Given the description of an element on the screen output the (x, y) to click on. 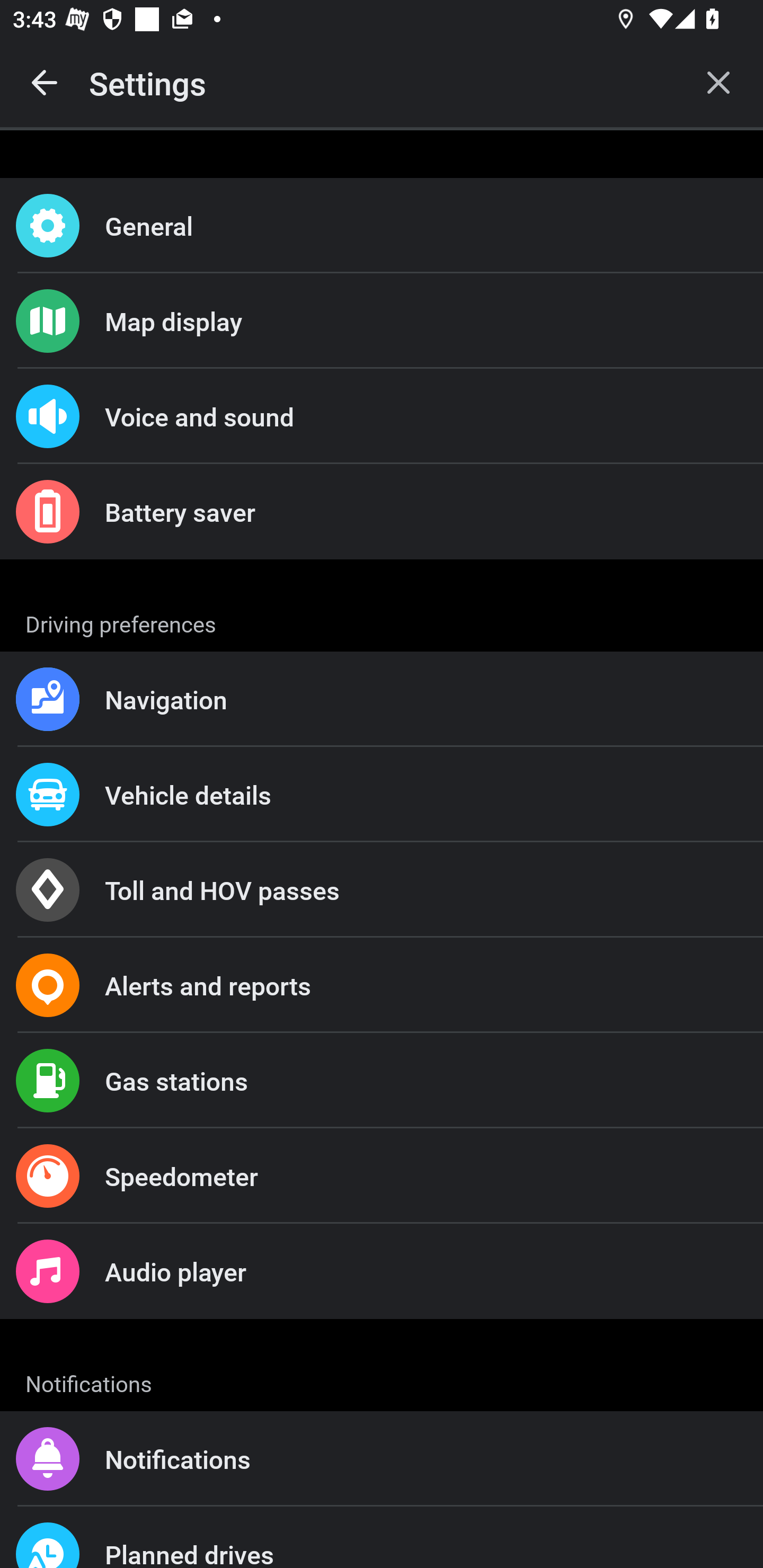
General (381, 225)
Map display (381, 320)
Voice and sound (381, 416)
Battery saver (381, 511)
ACTION_CELL_ICON Settings ACTION_CELL_TEXT (381, 620)
Navigation (381, 699)
Vehicle details (381, 794)
Toll and HOV passes (381, 889)
Alerts and reports (381, 985)
Gas stations (381, 1080)
Speedometer (381, 1175)
Audio player (381, 1270)
Home 255 W 94th St, Manhattan (381, 1368)
Notifications (381, 1458)
Planned drives (381, 1537)
